Given the description of an element on the screen output the (x, y) to click on. 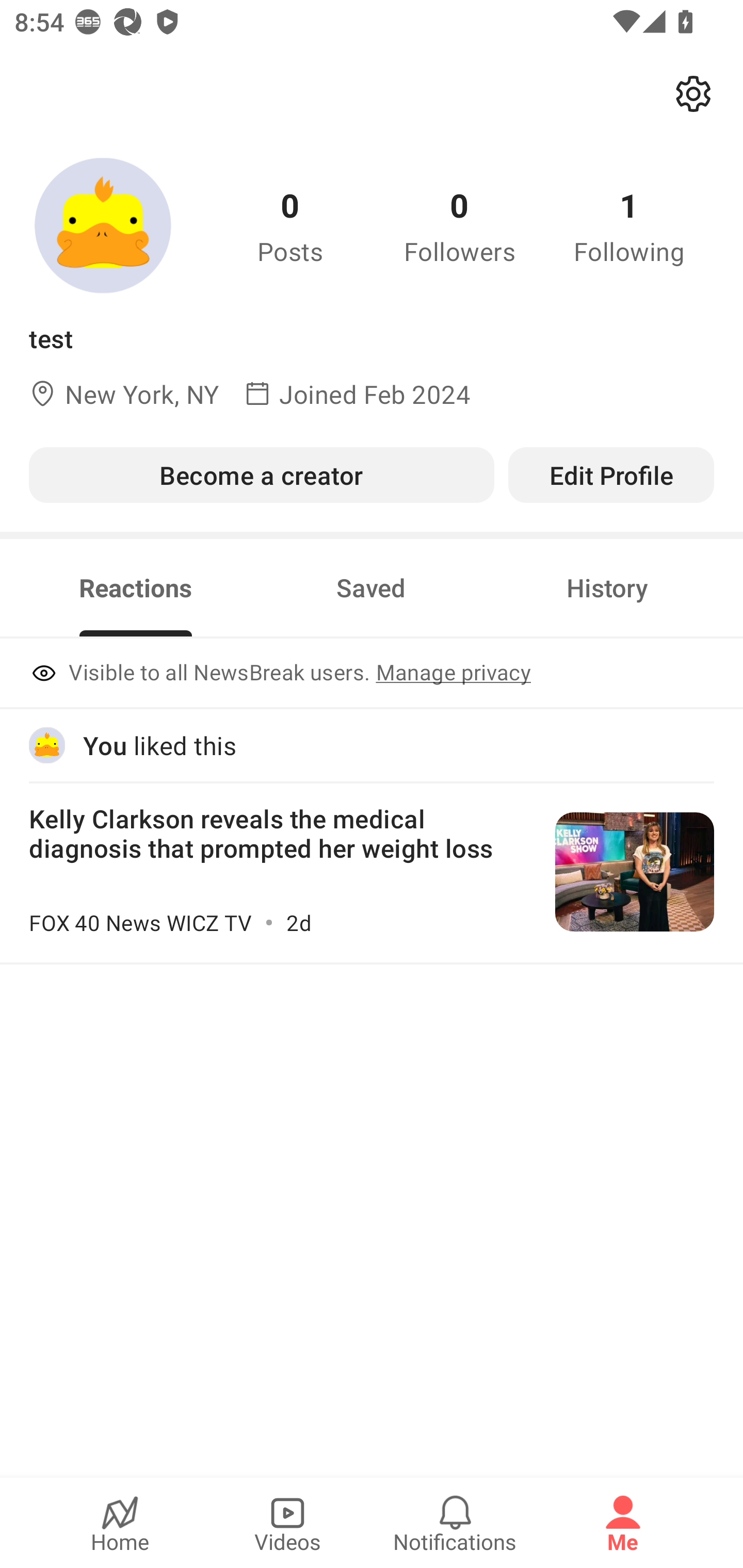
0 Followers (459, 225)
1 Following (629, 225)
Become a creator (261, 474)
Edit Profile (611, 474)
Saved (370, 587)
History (606, 587)
Visible to all NewsBreak users.  Manage privacy (371, 673)
Home (119, 1522)
Videos (287, 1522)
Notifications (455, 1522)
